Given the description of an element on the screen output the (x, y) to click on. 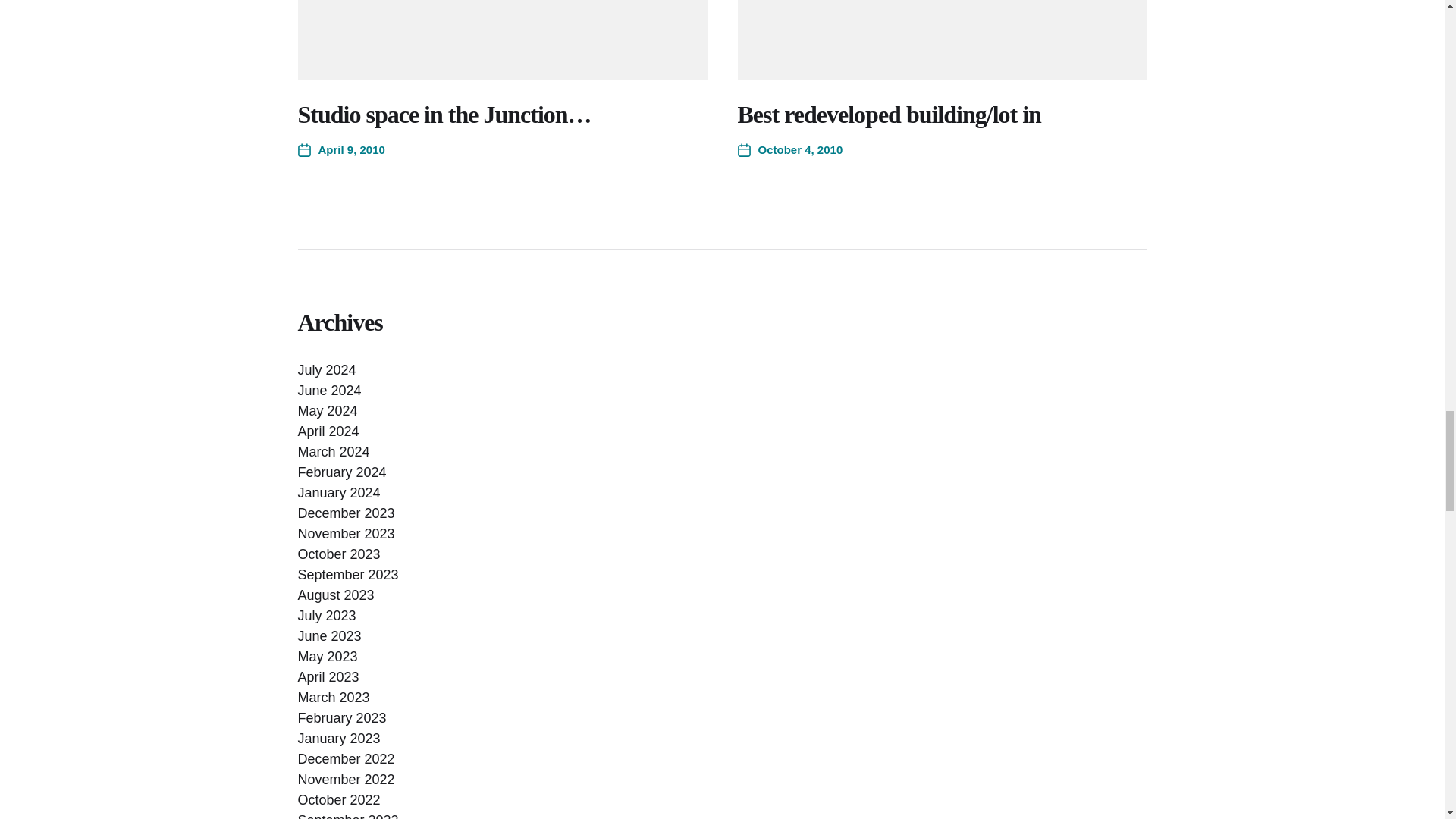
October 4, 2010 (789, 149)
July 2024 (326, 369)
April 9, 2010 (340, 149)
